Given the description of an element on the screen output the (x, y) to click on. 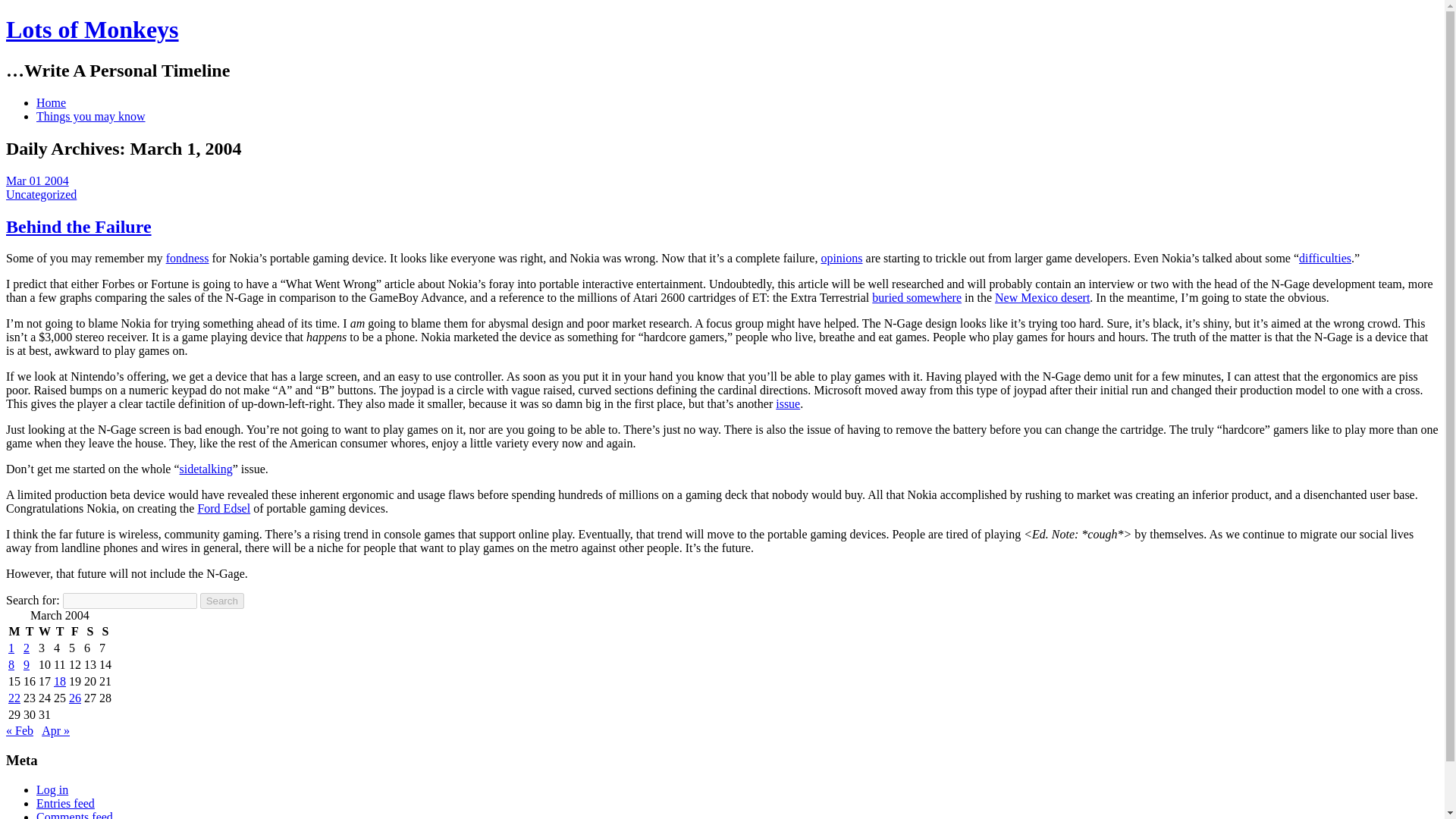
Tuesday (29, 631)
Mar 01 2004 (36, 180)
Lots of Monkeys (92, 29)
sidetalking (205, 468)
22 (14, 697)
Log in (52, 789)
Friday (74, 631)
buried somewhere (916, 297)
Ford Edsel (223, 508)
opinions (841, 257)
